Given the description of an element on the screen output the (x, y) to click on. 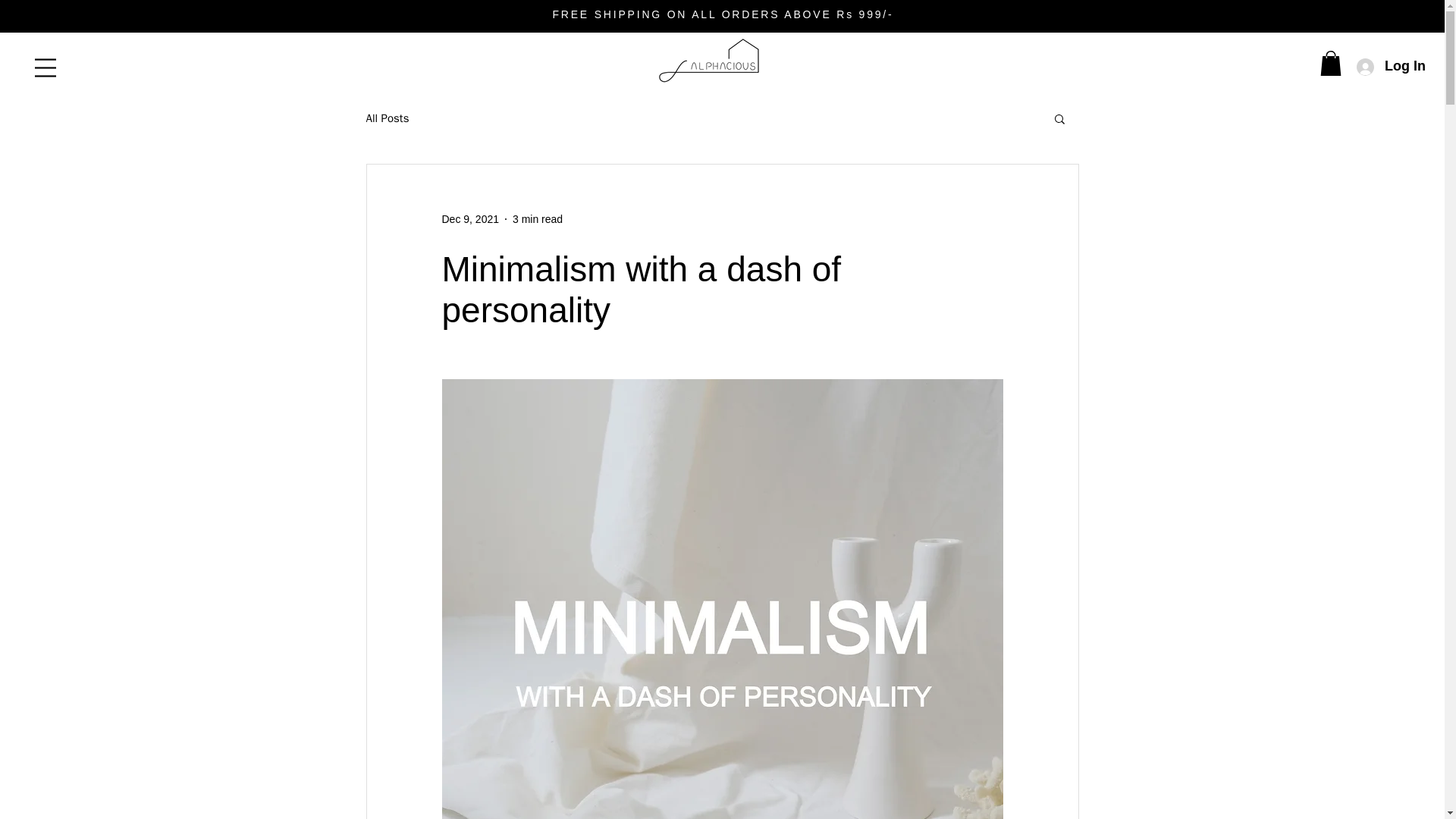
All Posts (387, 117)
3 min read (537, 218)
Dec 9, 2021 (470, 218)
Log In (1388, 66)
